Given the description of an element on the screen output the (x, y) to click on. 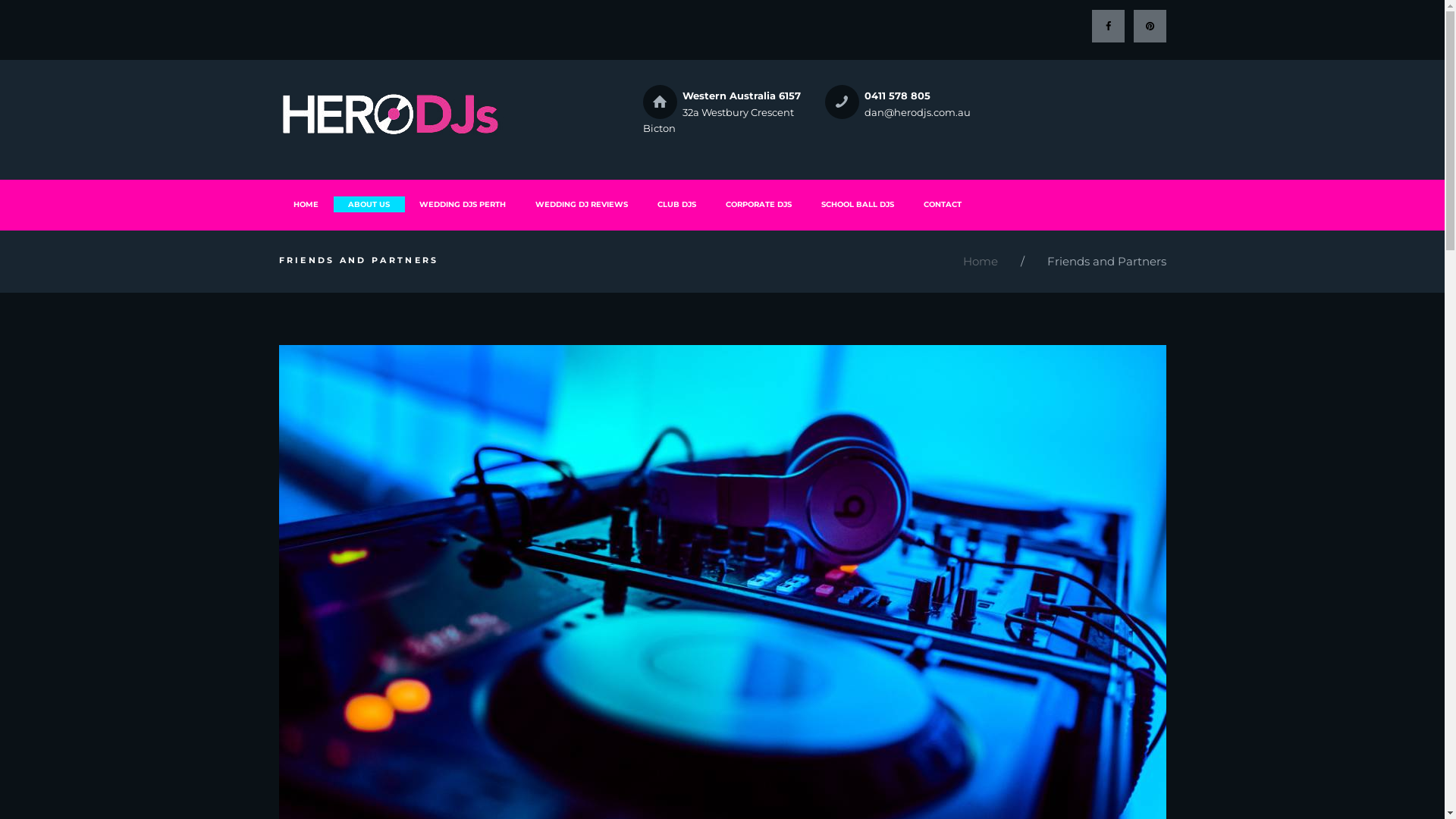
Home Element type: text (980, 261)
CLUB DJS Element type: text (677, 204)
CONTACT Element type: text (941, 204)
CORPORATE DJS Element type: text (758, 204)
WEDDING DJ REVIEWS Element type: text (581, 204)
WEDDING DJS PERTH Element type: text (462, 204)
SCHOOL BALL DJS Element type: text (857, 204)
ABOUT US Element type: text (368, 204)
HOME Element type: text (306, 204)
